Given the description of an element on the screen output the (x, y) to click on. 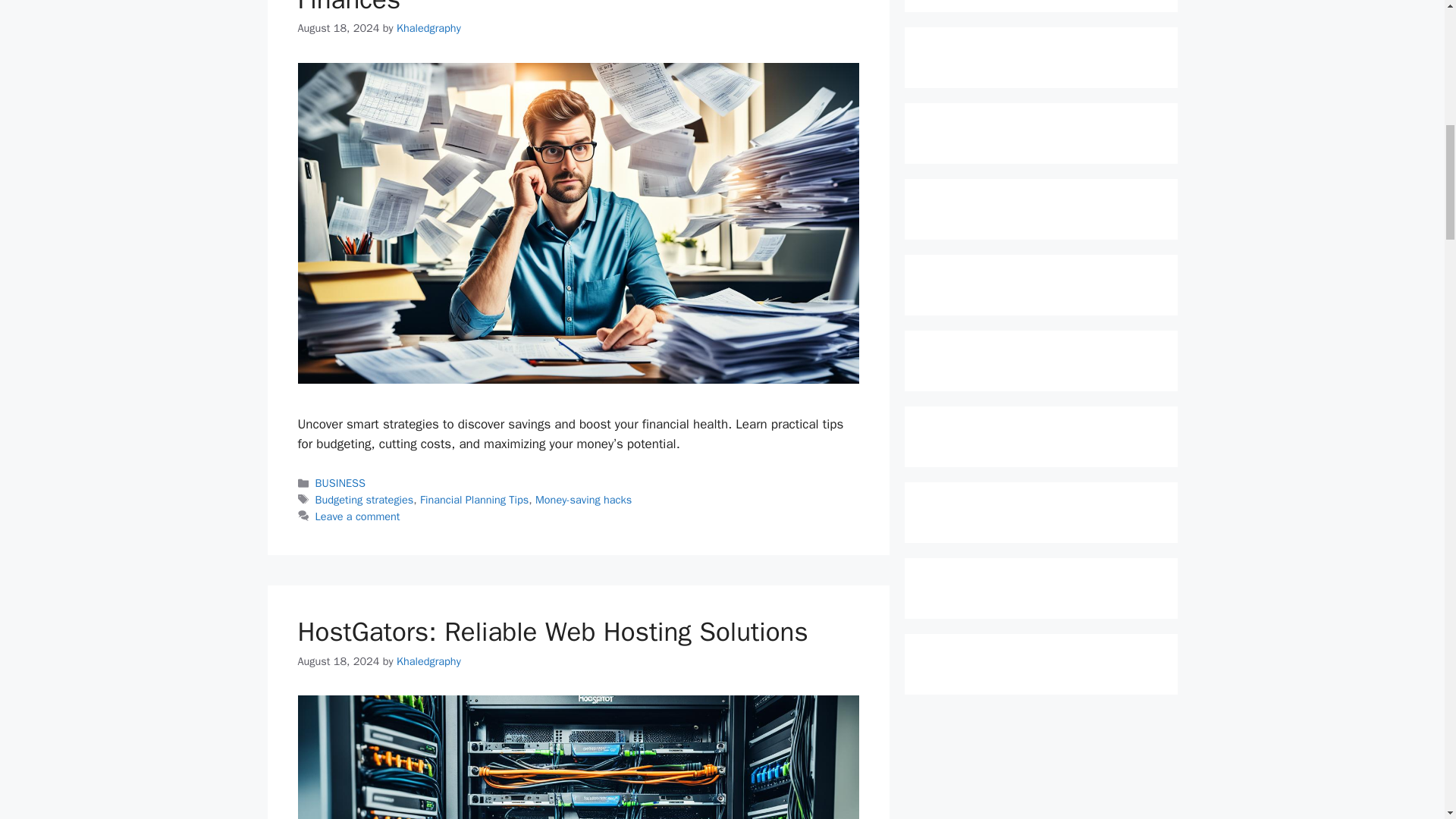
Khaledgraphy (428, 28)
Discover Savings: Smart Ways to Boost Your Finances (555, 7)
Leave a comment (357, 516)
Budgeting strategies (364, 499)
Financial Planning Tips (474, 499)
Money-saving hacks (583, 499)
HostGators: Reliable Web Hosting Solutions (552, 631)
View all posts by Khaledgraphy (428, 28)
Khaledgraphy (428, 660)
View all posts by Khaledgraphy (428, 660)
